Given the description of an element on the screen output the (x, y) to click on. 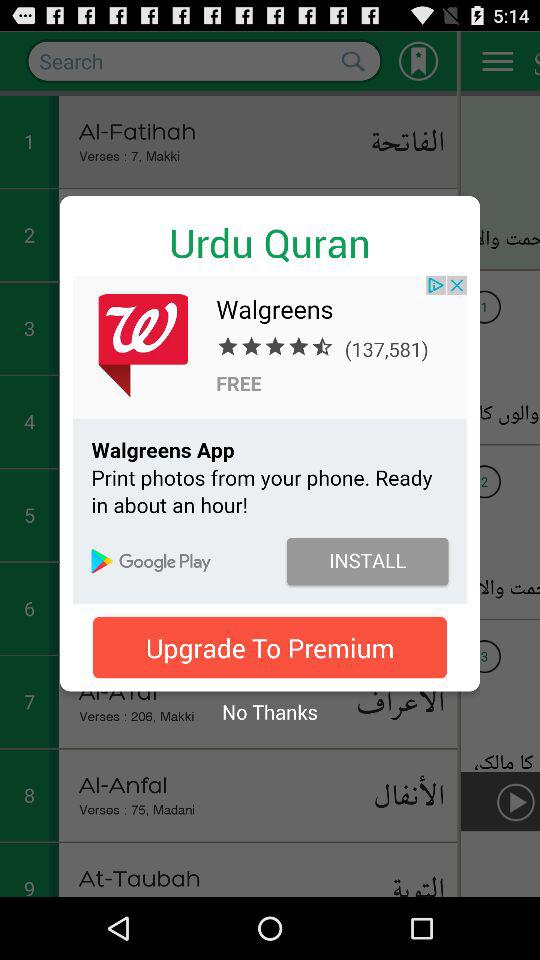
walgreens app advertisement (269, 439)
